Given the description of an element on the screen output the (x, y) to click on. 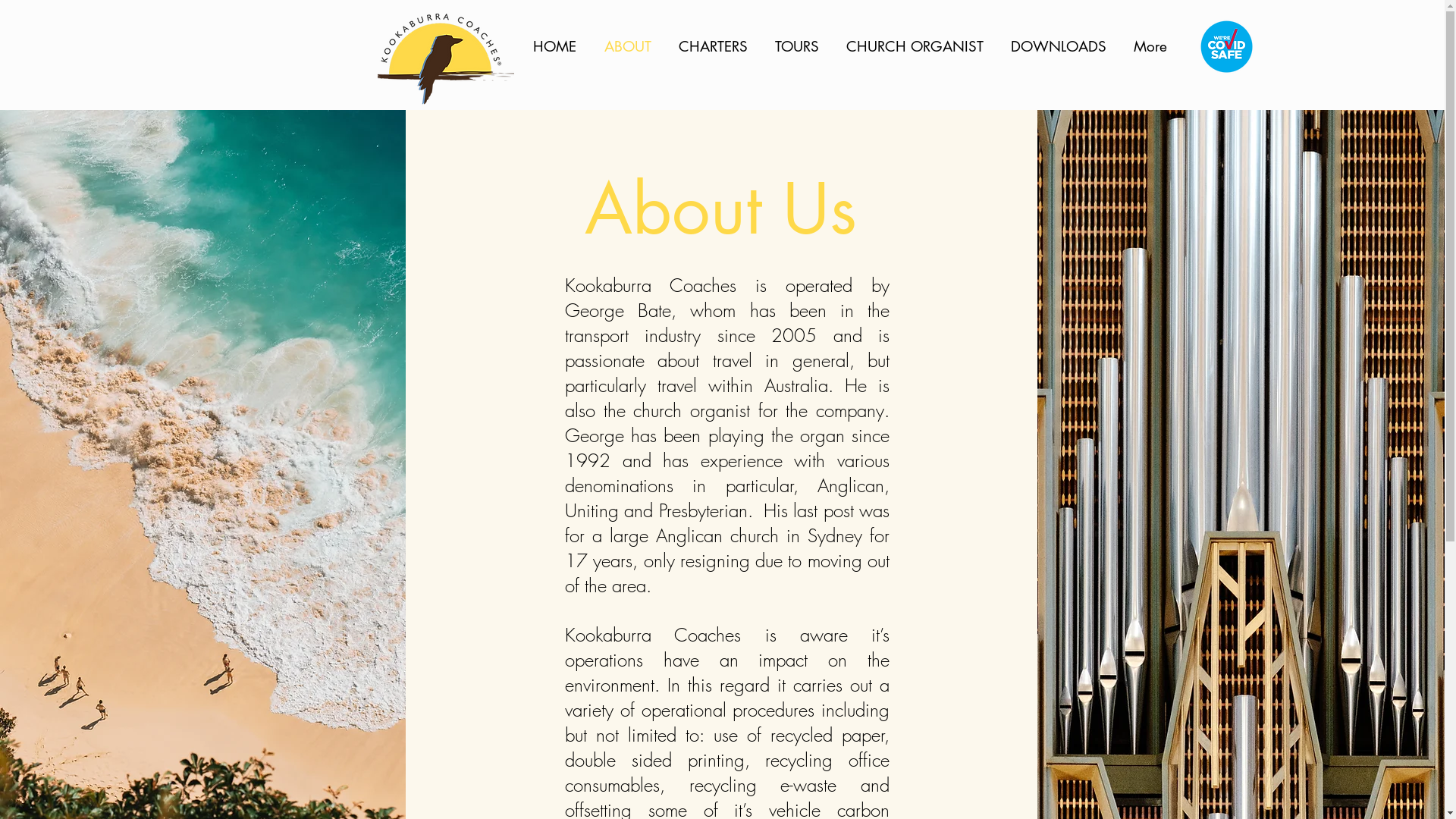
TOURS Element type: text (798, 46)
HOME Element type: text (557, 46)
DOWNLOADS Element type: text (1060, 46)
CHARTERS Element type: text (715, 46)
CHURCH ORGANIST Element type: text (916, 46)
ABOUT Element type: text (630, 46)
